Given the description of an element on the screen output the (x, y) to click on. 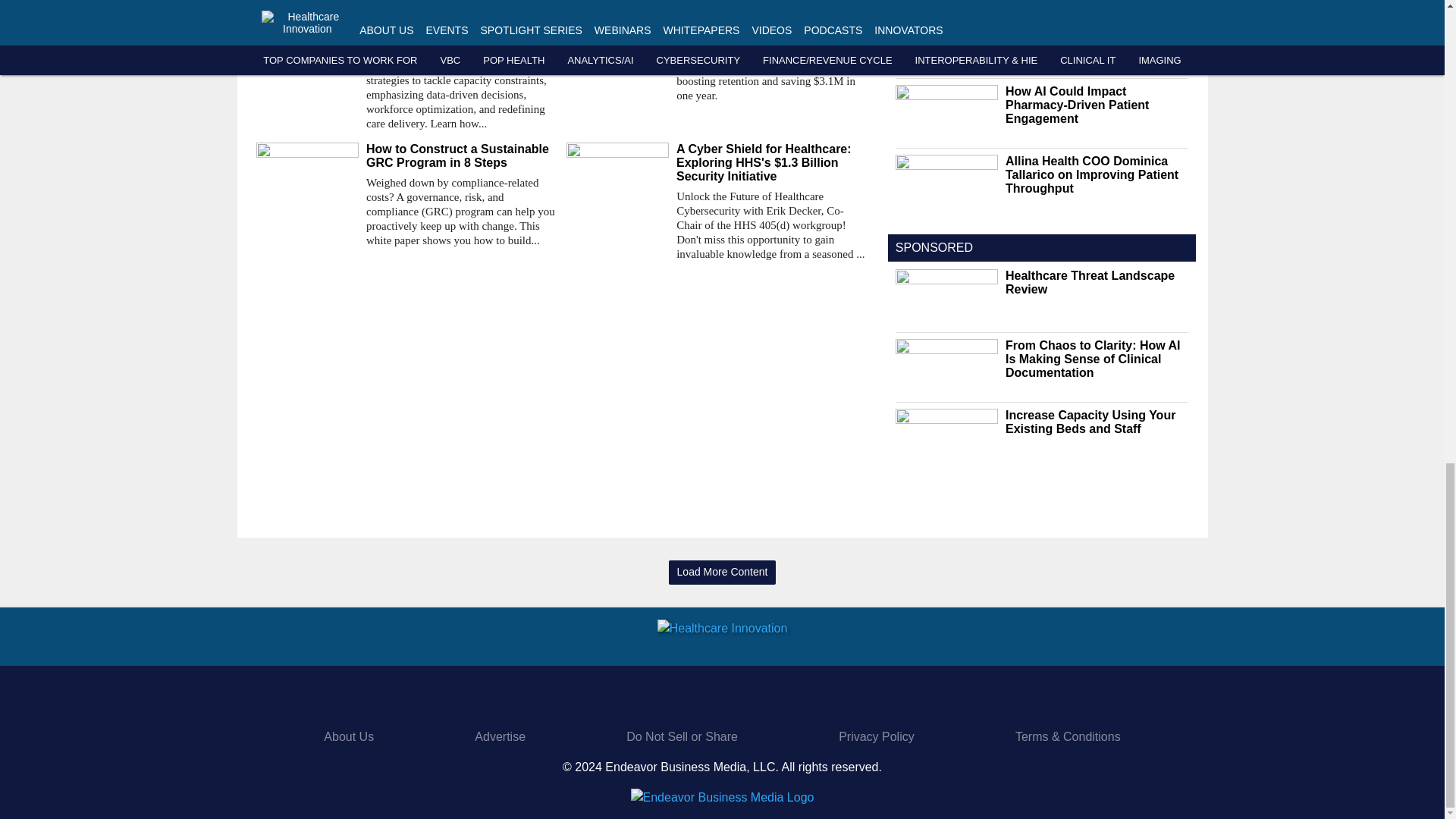
How to Construct a Sustainable GRC Program in 8 Steps (459, 155)
MemorialCare Boosts Nurse Engagement and Retention (770, 25)
